Given the description of an element on the screen output the (x, y) to click on. 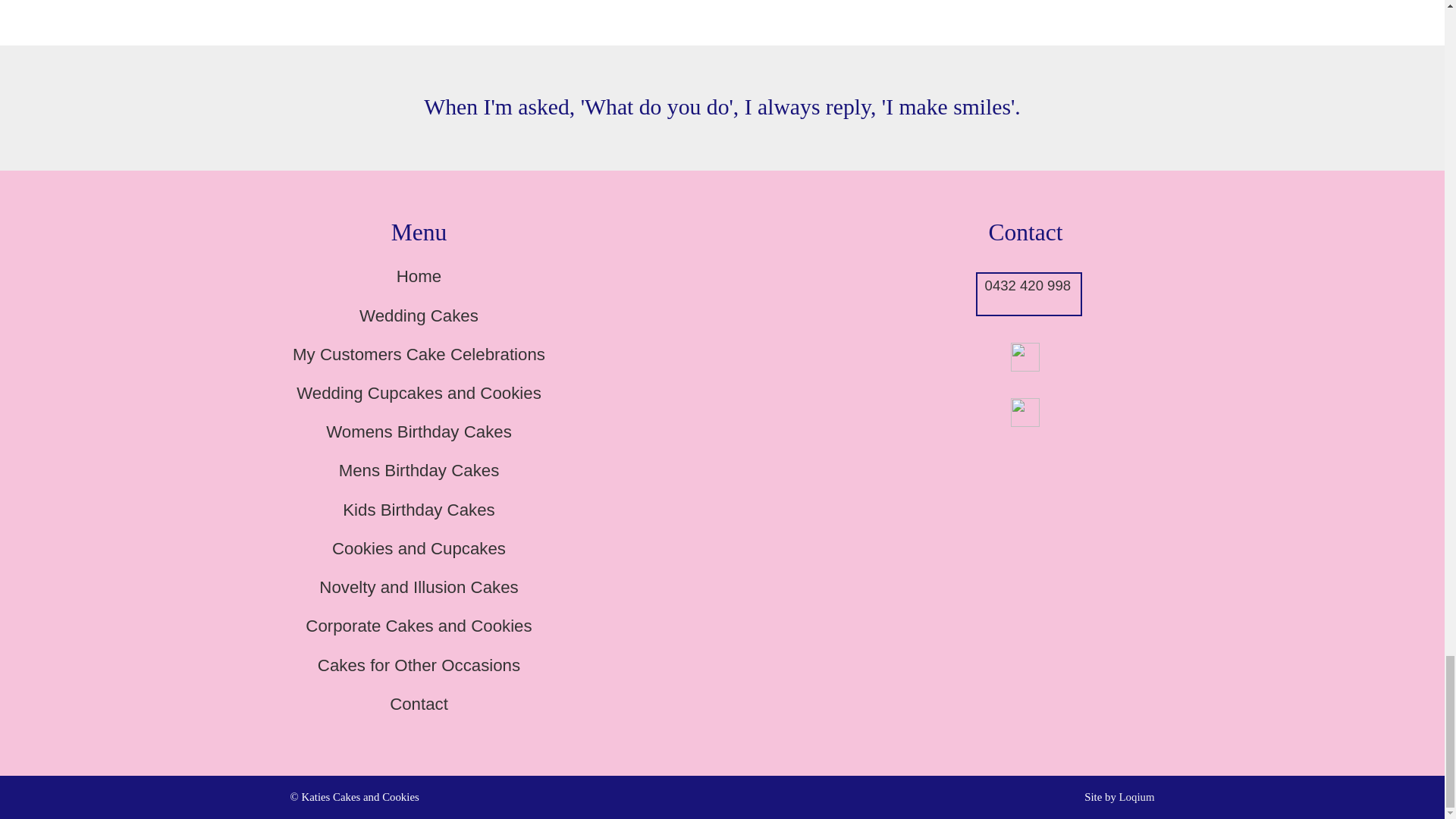
Cakes for Other Occasions (418, 665)
Wedding Cakes (419, 315)
Wedding Cupcakes and Cookies (419, 393)
Contact (419, 703)
Kids Birthday Cakes (418, 509)
Novelty and Illusion Cakes (418, 587)
Womens Birthday Cakes (419, 431)
Mens Birthday Cakes (419, 470)
My Customers Cake Celebrations (418, 353)
Cookies and Cupcakes (418, 547)
